Given the description of an element on the screen output the (x, y) to click on. 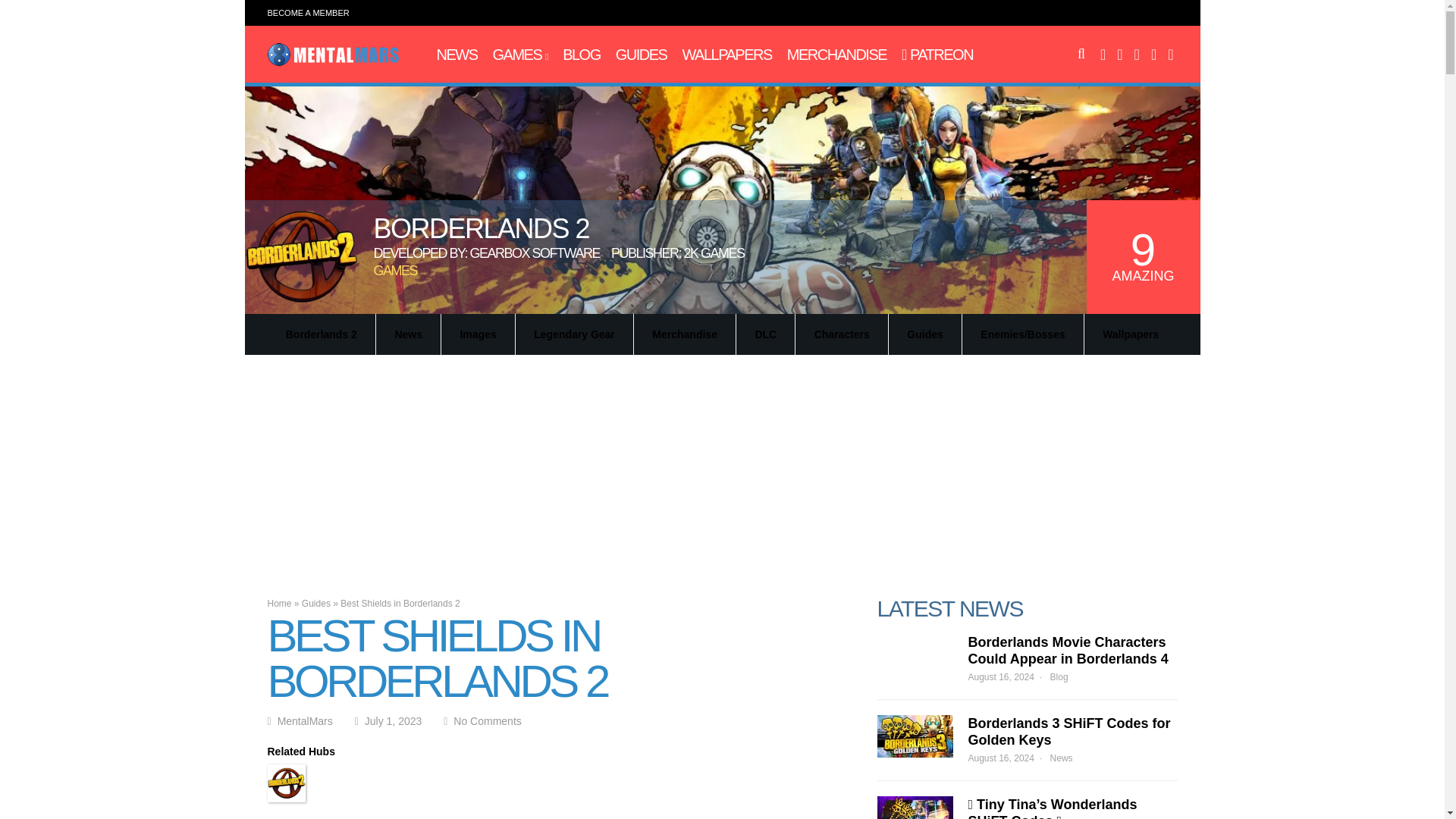
BECOME A MEMBER (307, 13)
GAMES (520, 54)
BLOG (580, 54)
News (456, 54)
Blog (580, 54)
MentalMars (331, 62)
Merchandise (836, 54)
PATREON (936, 54)
Game Wallpapers (726, 54)
GUIDES (640, 54)
